Given the description of an element on the screen output the (x, y) to click on. 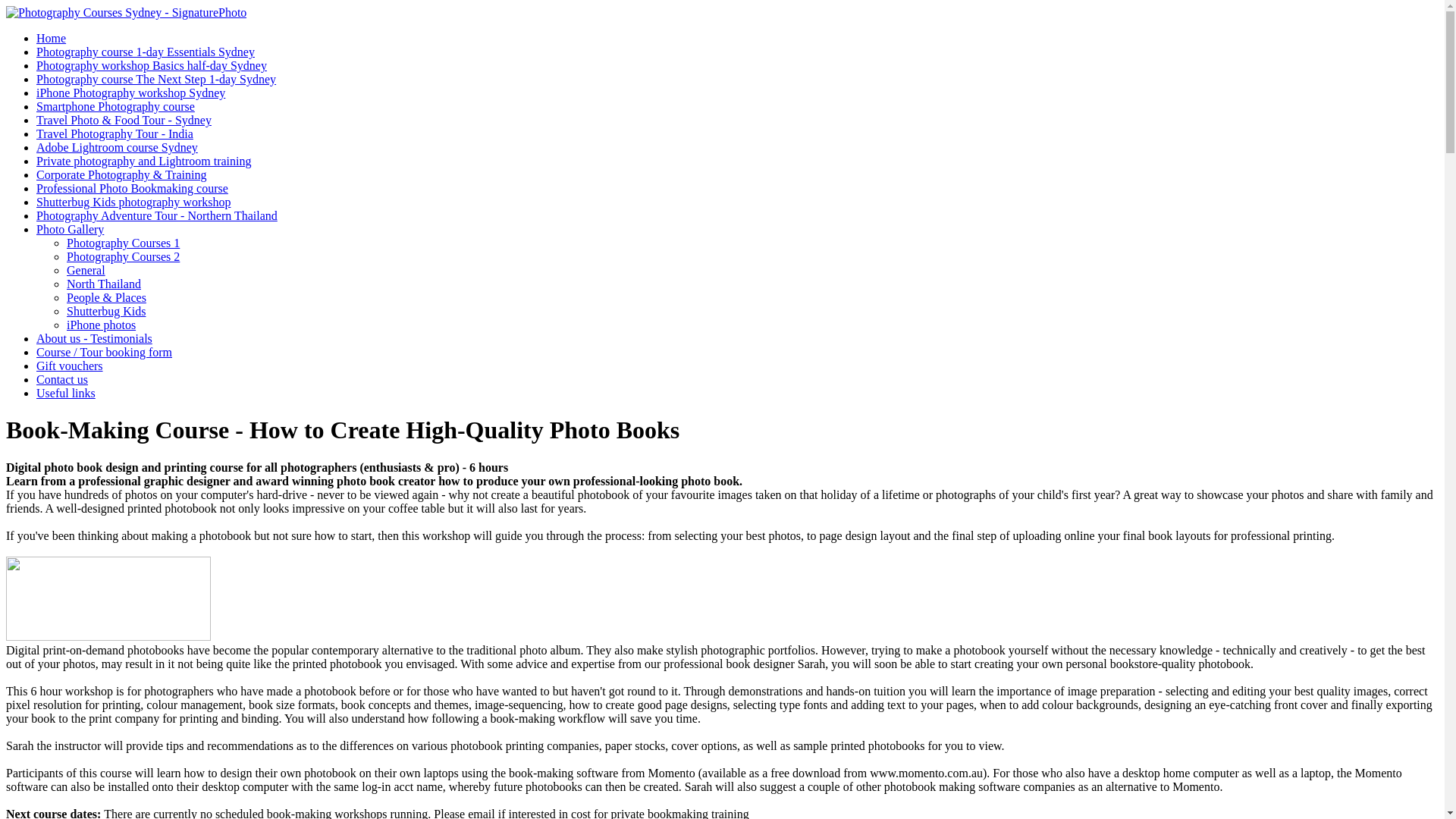
Home (50, 38)
Professional Photo Bookmaking course (132, 187)
iPhone Photography workshop Sydney (130, 92)
Photography workshop Basics half-day Sydney (151, 65)
About us - Testimonials (94, 338)
Photography course 1-day Essentials Sydney (145, 51)
Photography Courses 2 (122, 256)
Private photography and Lightroom training (143, 160)
Shutterbug Kids photography workshop (133, 201)
Photography course The Next Step 1-day Sydney (156, 78)
Travel Photography Tour - India (114, 133)
Photo Gallery (69, 228)
Contact us (61, 379)
Useful links (66, 392)
North Thailand (103, 283)
